Given the description of an element on the screen output the (x, y) to click on. 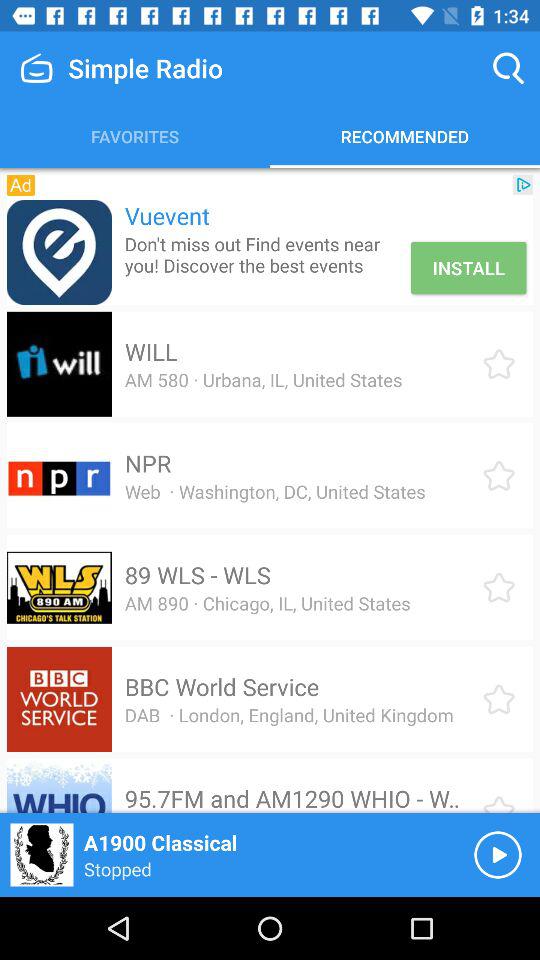
tap the item below the vuevent (264, 254)
